Given the description of an element on the screen output the (x, y) to click on. 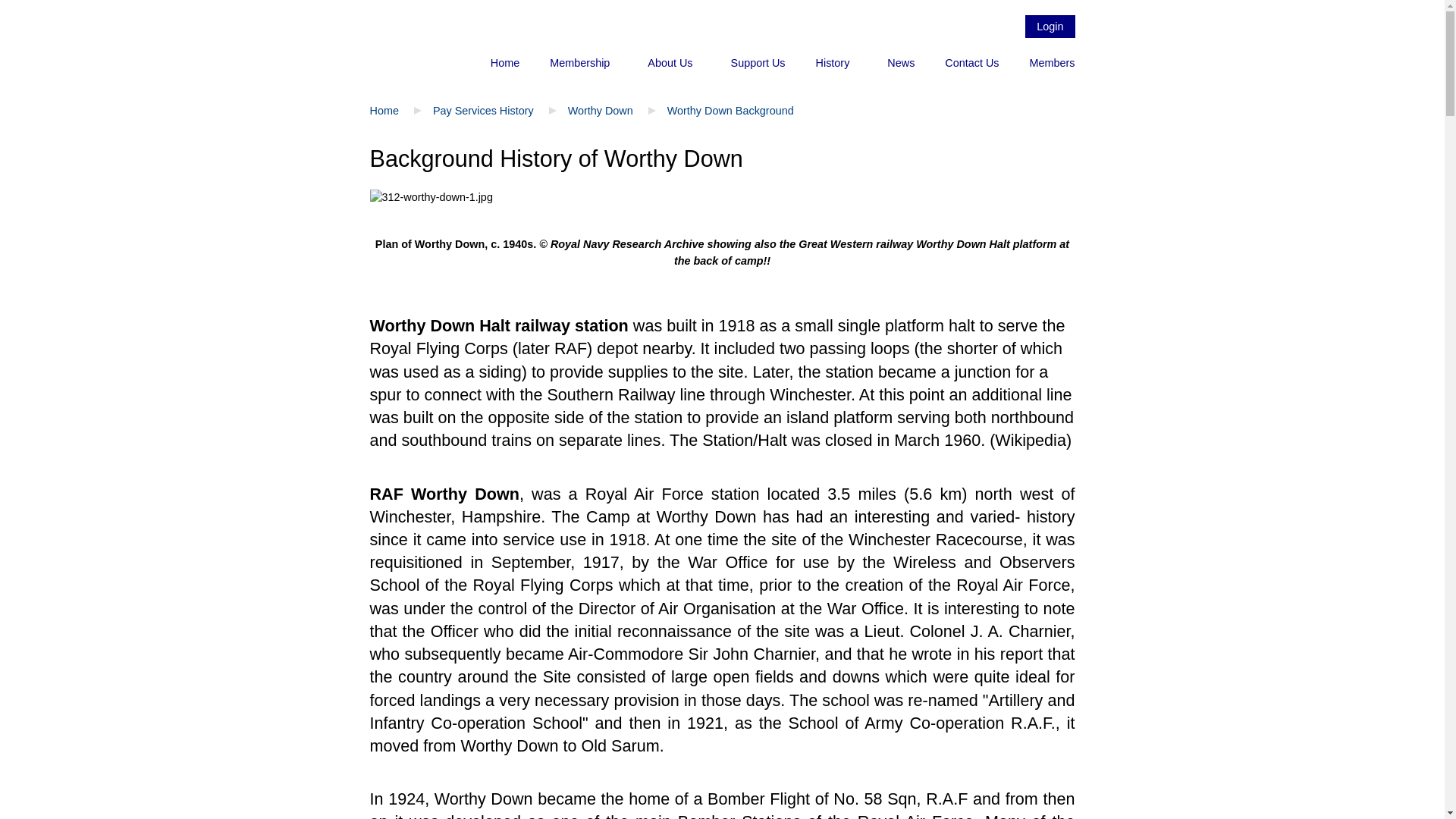
Worthy Down (600, 110)
Pay Services History (483, 110)
History (836, 62)
Home (505, 62)
Home (383, 110)
News (901, 62)
Membership (582, 62)
Members (1052, 62)
Pay Services History (483, 110)
About Us (672, 62)
Support Us (758, 62)
Worthy Down Background (729, 110)
Home (383, 110)
Contact Us (971, 62)
Login (1049, 26)
